Given the description of an element on the screen output the (x, y) to click on. 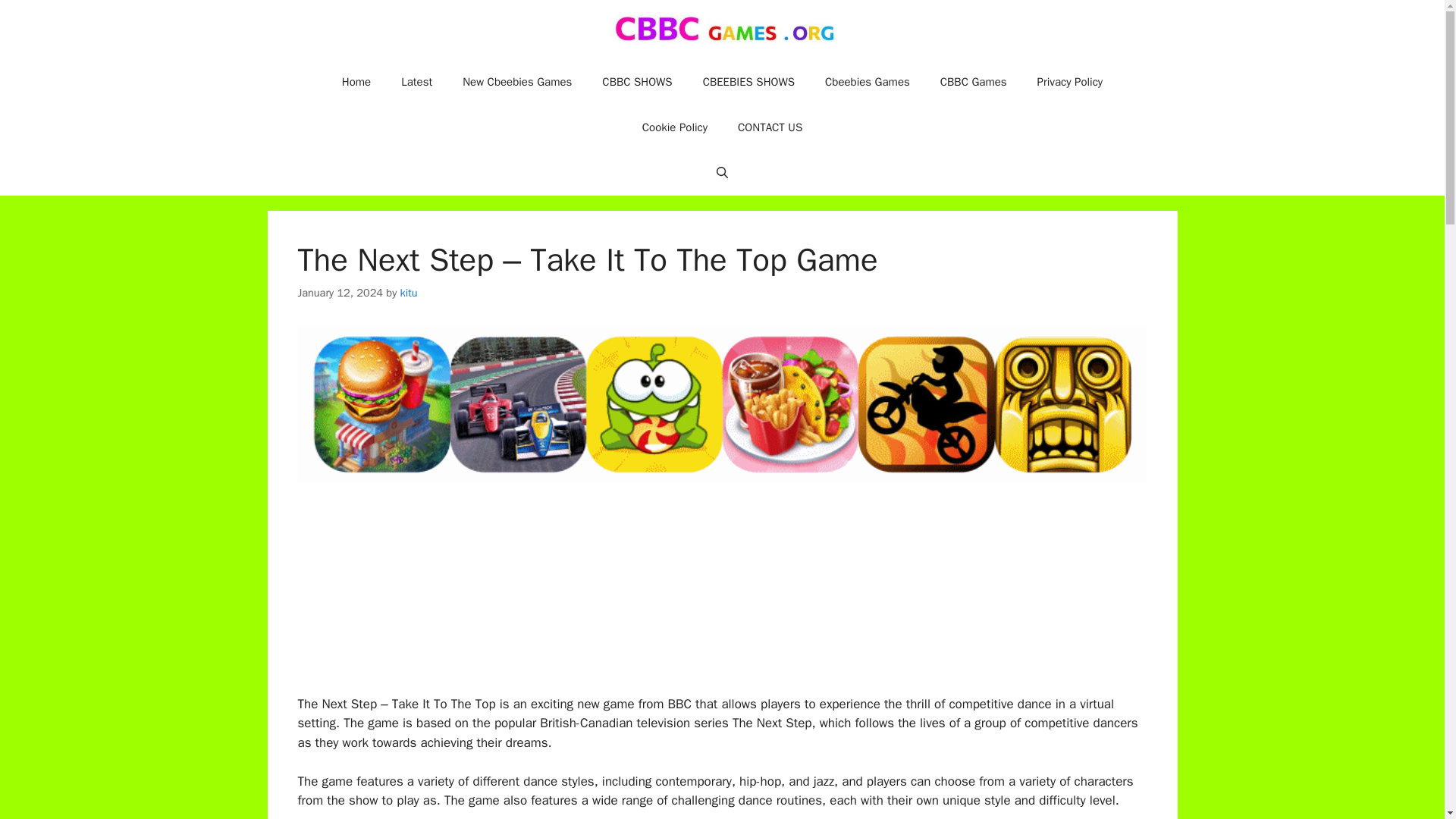
CBBC Games (973, 81)
Cbeebies Games (866, 81)
CBBC SHOWS (636, 81)
New Cbeebies Games (516, 81)
CONTACT US (769, 126)
CBEEBIES SHOWS (748, 81)
View all posts by kitu (408, 292)
Cookie Policy (674, 126)
kitu (408, 292)
Privacy Policy (1070, 81)
Latest (415, 81)
Home (355, 81)
